Given the description of an element on the screen output the (x, y) to click on. 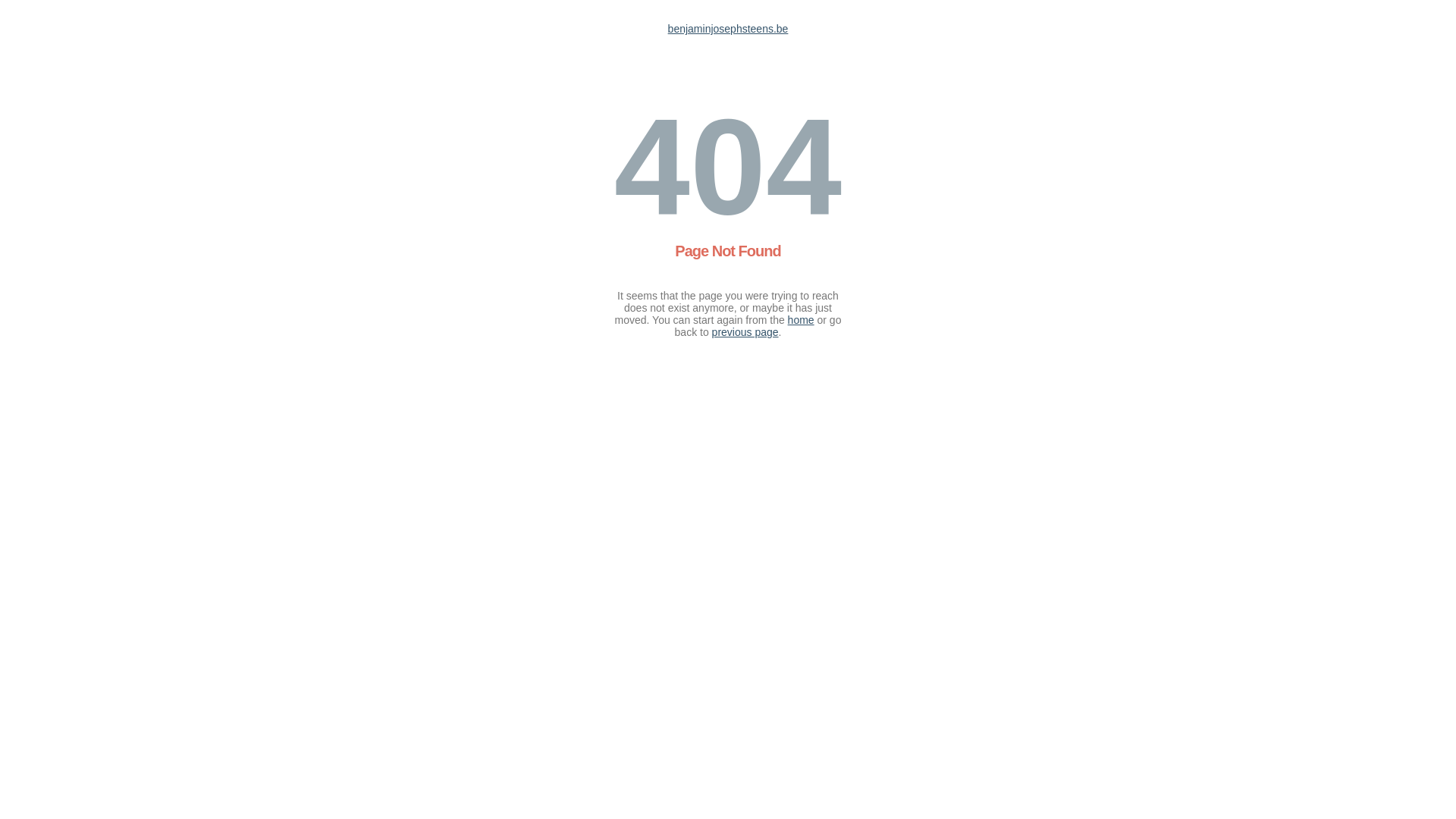
benjaminjosephsteens.be Element type: text (728, 28)
previous page Element type: text (745, 332)
home Element type: text (800, 319)
